Given the description of an element on the screen output the (x, y) to click on. 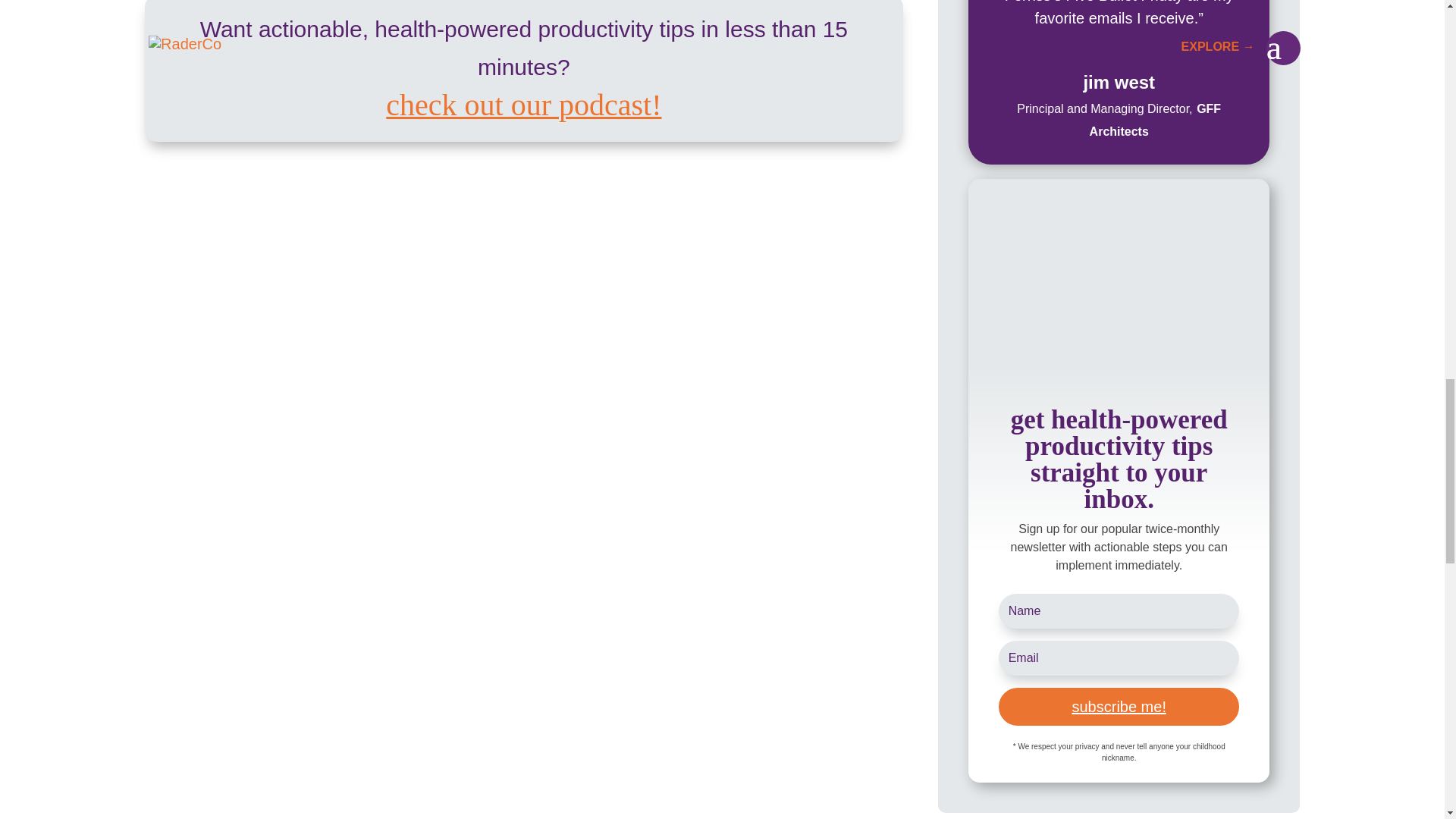
subscribe me! (1119, 706)
check out our podcast! (523, 107)
